Given the description of an element on the screen output the (x, y) to click on. 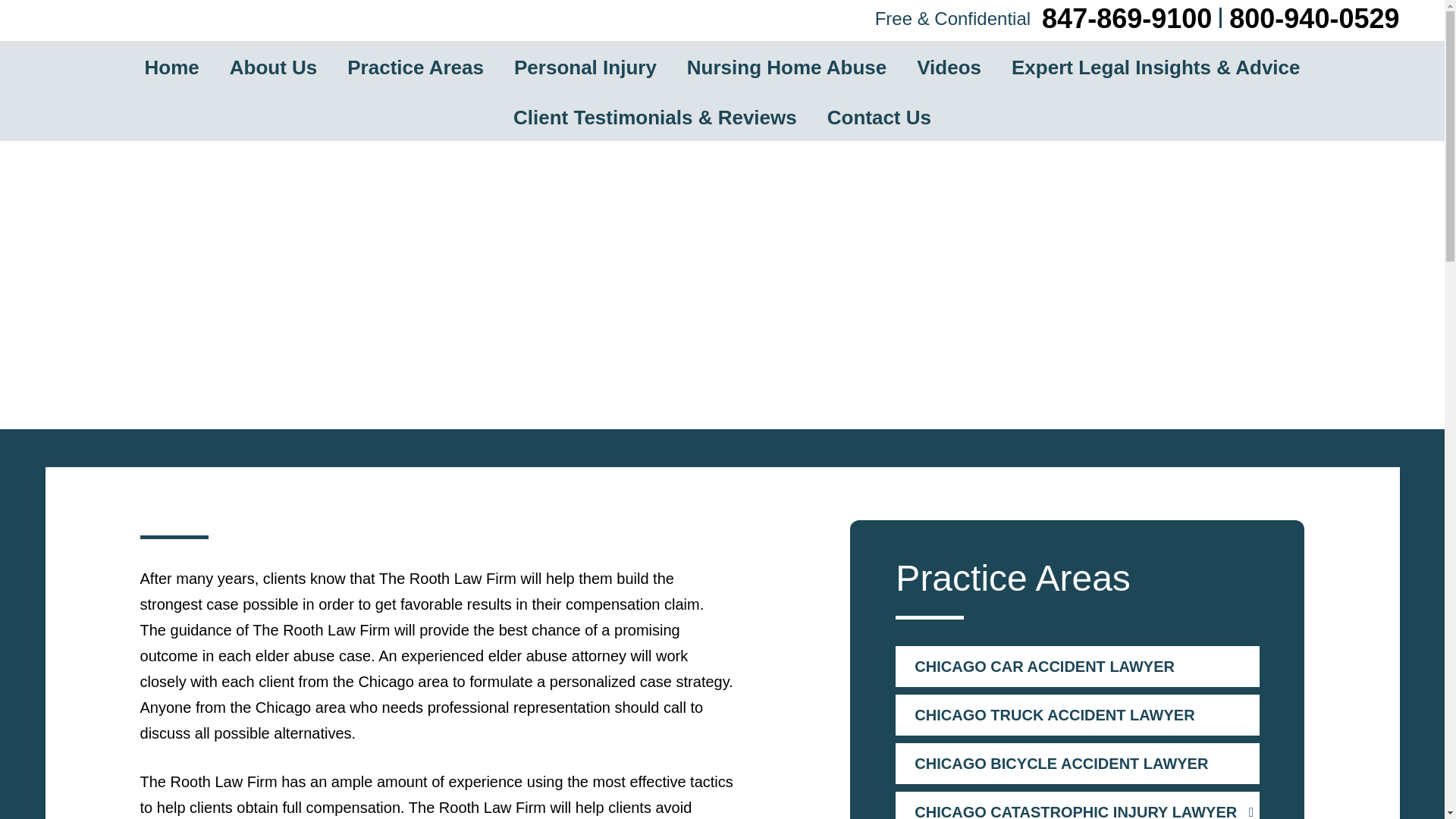
CHICAGO CAR ACCIDENT LAWYER (1077, 666)
847-869-9100 (1126, 18)
Practice Areas (415, 65)
800-940-0529 (1313, 18)
Contact Us (879, 115)
Videos (949, 65)
Nursing Home Abuse (786, 65)
CHICAGO TRUCK ACCIDENT LAWYER (1077, 714)
About Us (273, 65)
CHICAGO BICYCLE ACCIDENT LAWYER (1077, 762)
